Given the description of an element on the screen output the (x, y) to click on. 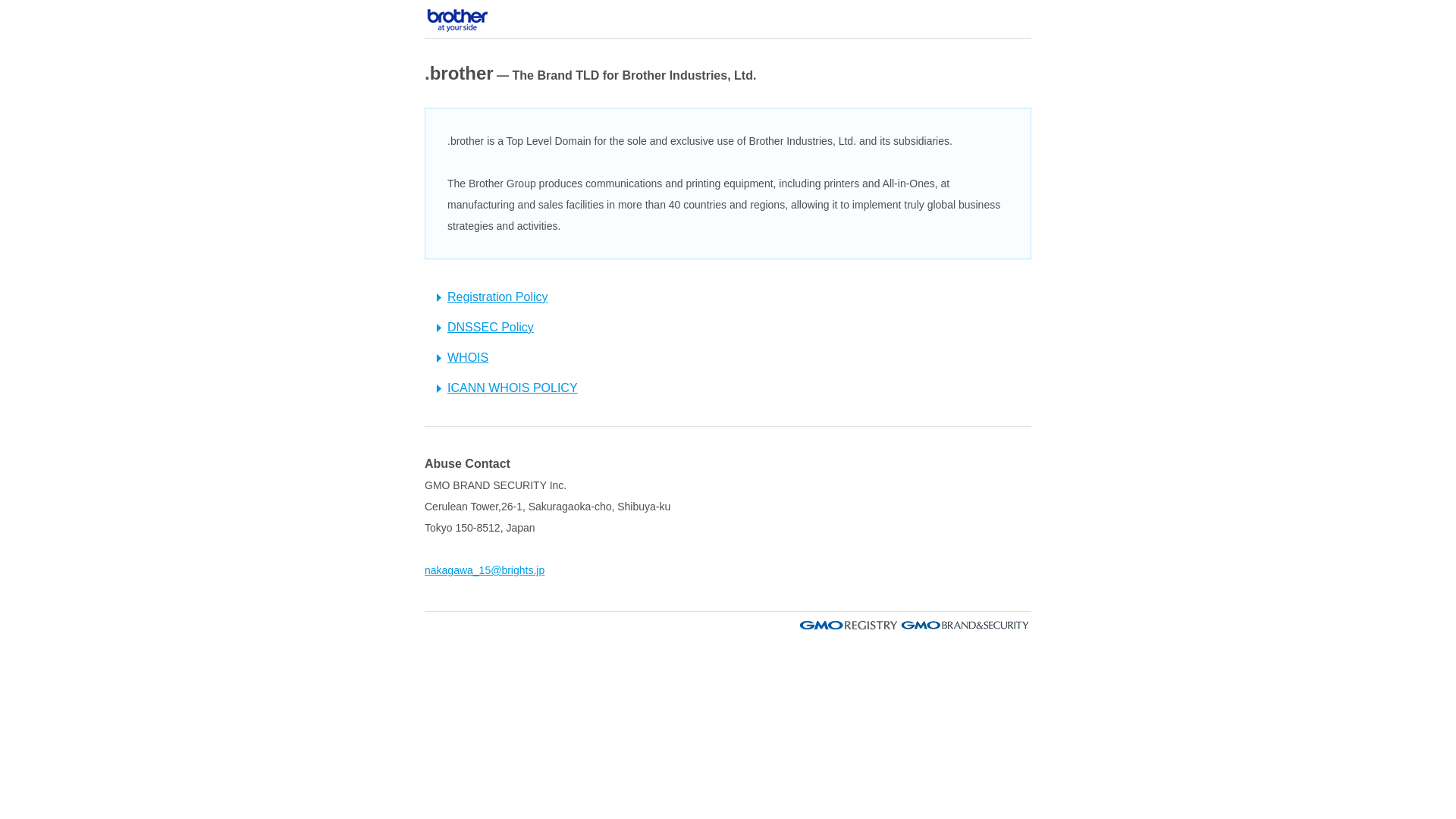
Registration Policy Element type: text (492, 296)
DNSSEC Policy Element type: text (484, 326)
ICANN WHOIS POLICY Element type: text (506, 387)
WHOIS Element type: text (462, 357)
nakagawa_15@brights.jp Element type: text (484, 570)
